Given the description of an element on the screen output the (x, y) to click on. 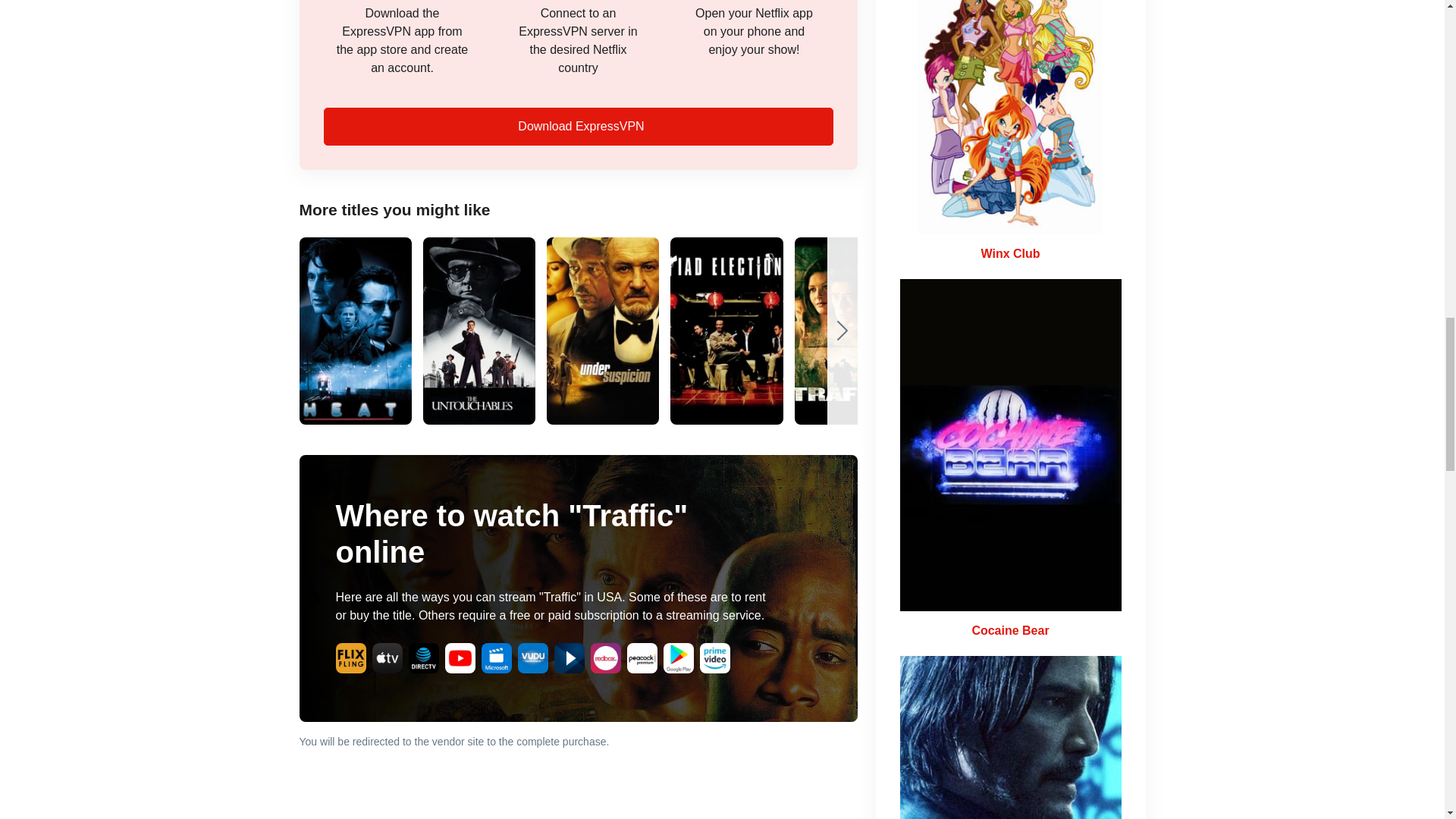
Google Play Movies (677, 657)
Spectrum On Demand (568, 657)
DIRECTV (422, 657)
Apple iTunes (386, 657)
Vudu (531, 657)
Amazon Prime Video (713, 657)
YouTube (459, 657)
Peacock Premium (641, 657)
Microsoft Store (495, 657)
FlixFling (349, 657)
Redbox (604, 657)
